Given the description of an element on the screen output the (x, y) to click on. 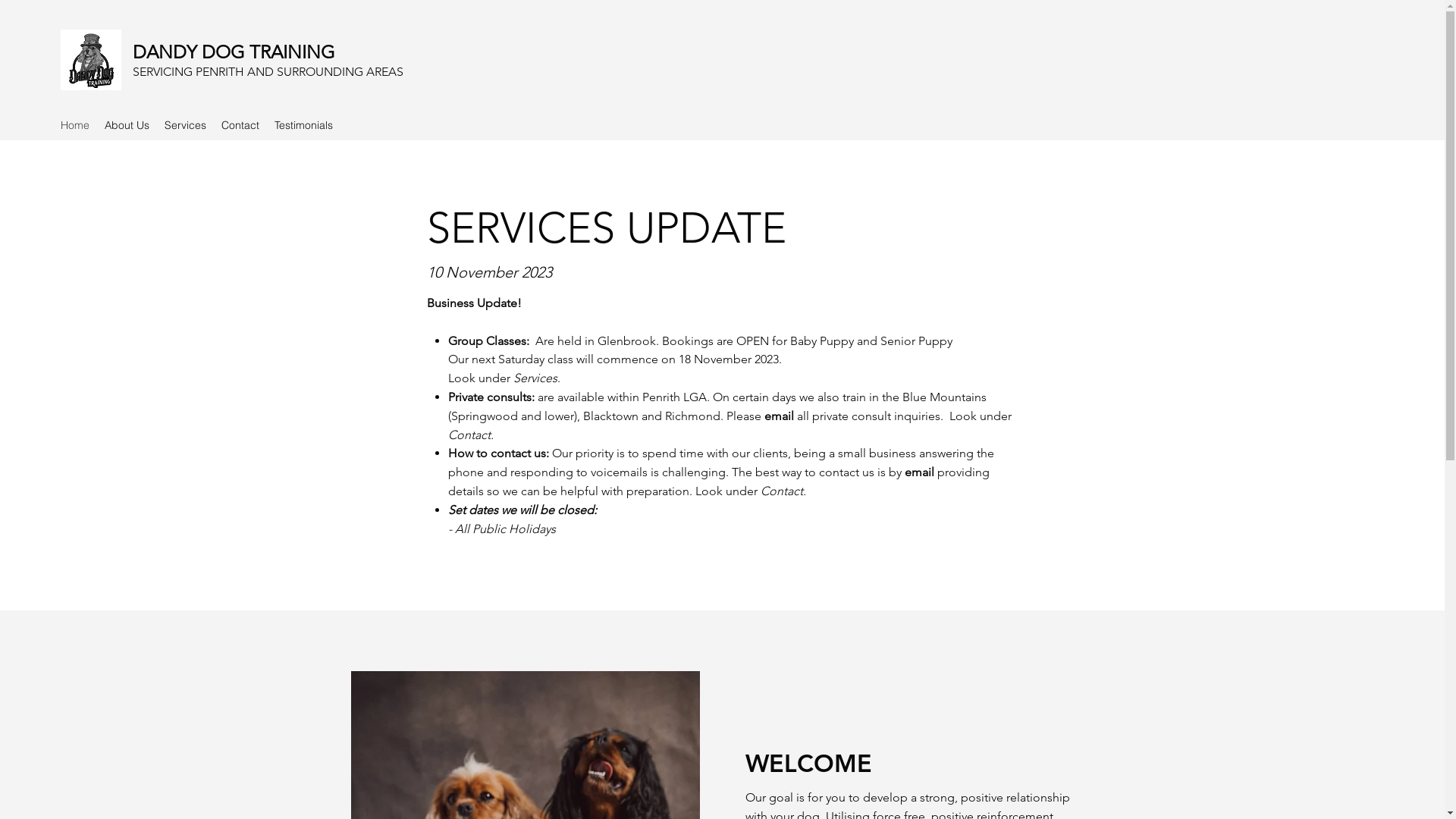
Home Element type: text (75, 124)
Contact Element type: text (239, 124)
About Us Element type: text (126, 124)
Testimonials Element type: text (303, 124)
